Given the description of an element on the screen output the (x, y) to click on. 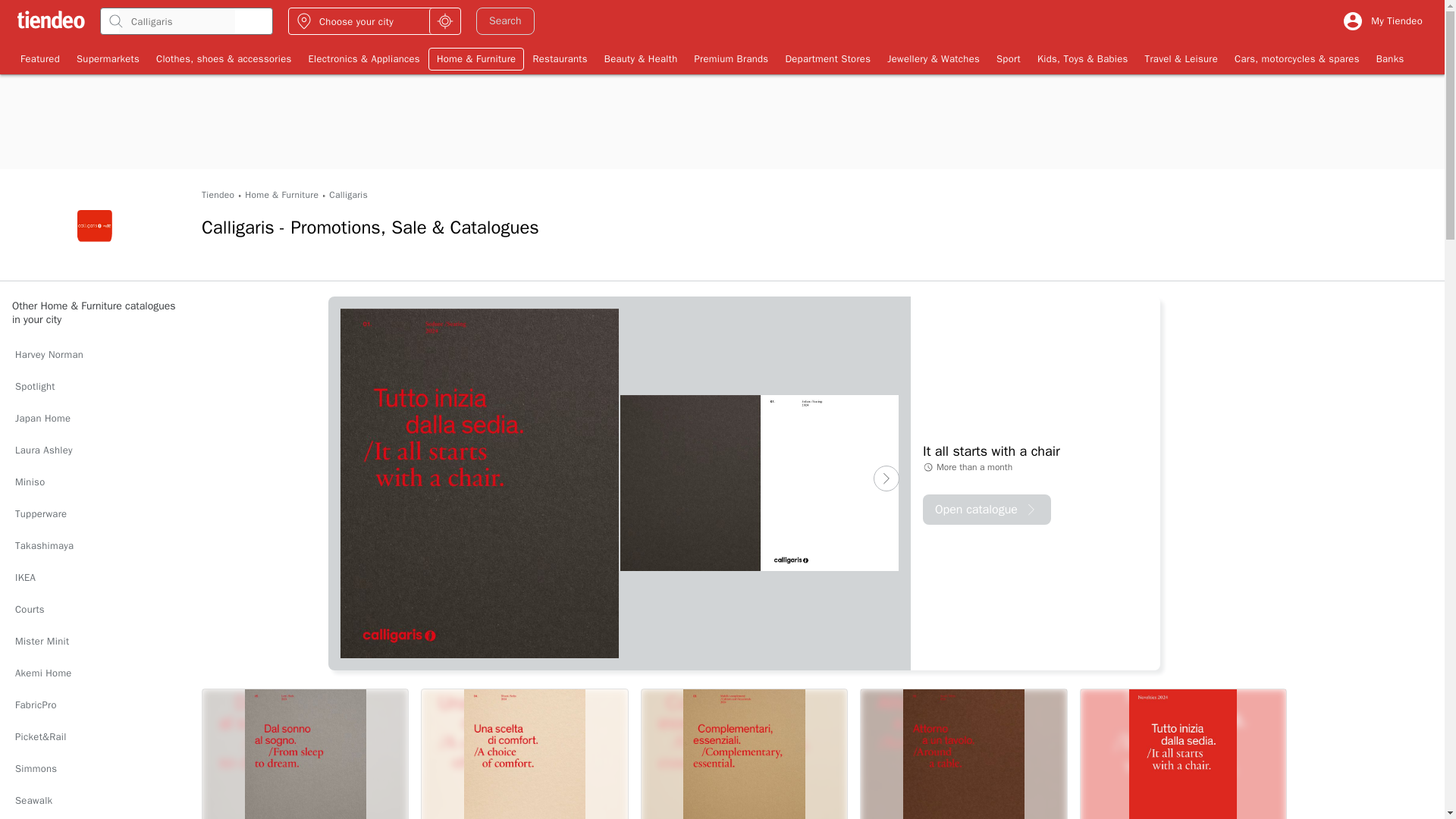
Featured (39, 58)
Banks (1390, 58)
Department Stores (827, 58)
Courts (94, 609)
Simmons (94, 768)
Laura Ashley (94, 450)
Miniso (94, 481)
Sport (1008, 58)
Takashimaya (94, 545)
Search (505, 21)
Spotlight (94, 386)
FabricPro (94, 705)
Seawalk (94, 800)
Akemi Home (94, 673)
Restaurants (559, 58)
